Given the description of an element on the screen output the (x, y) to click on. 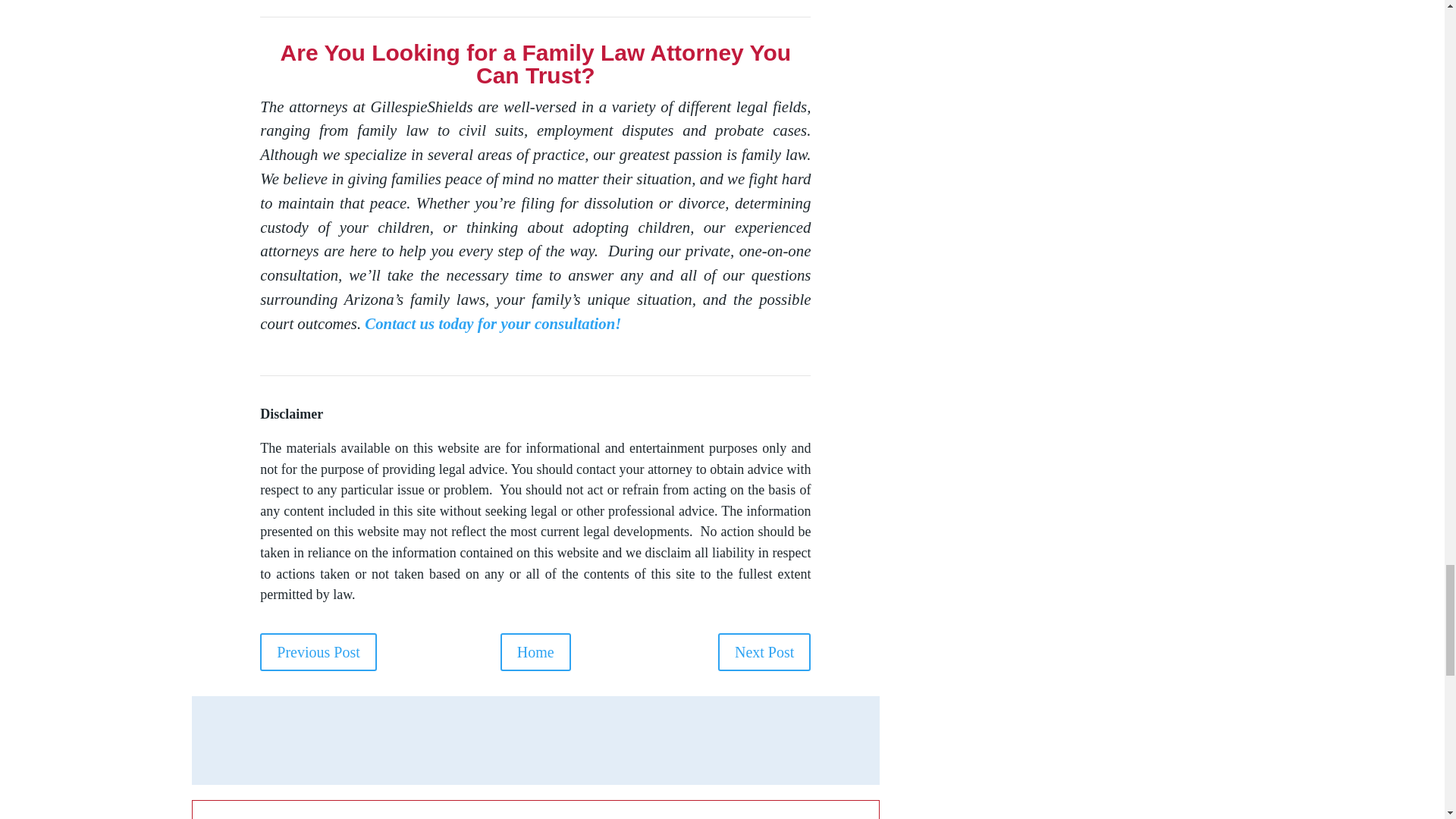
Previous Post (317, 651)
Contact us today for your consultation! (493, 323)
GillespieShields (339, 818)
Next Post (763, 651)
Home (535, 651)
